Given the description of an element on the screen output the (x, y) to click on. 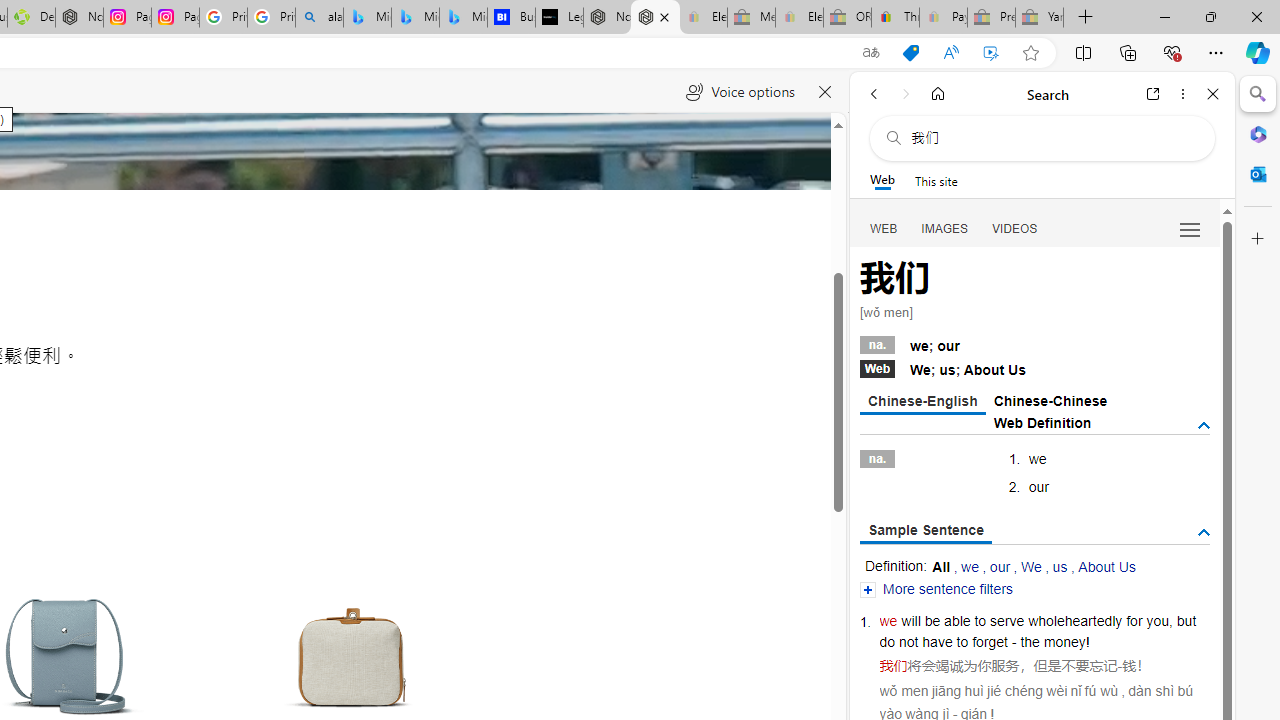
WEB (884, 228)
Voice options (740, 92)
